Given the description of an element on the screen output the (x, y) to click on. 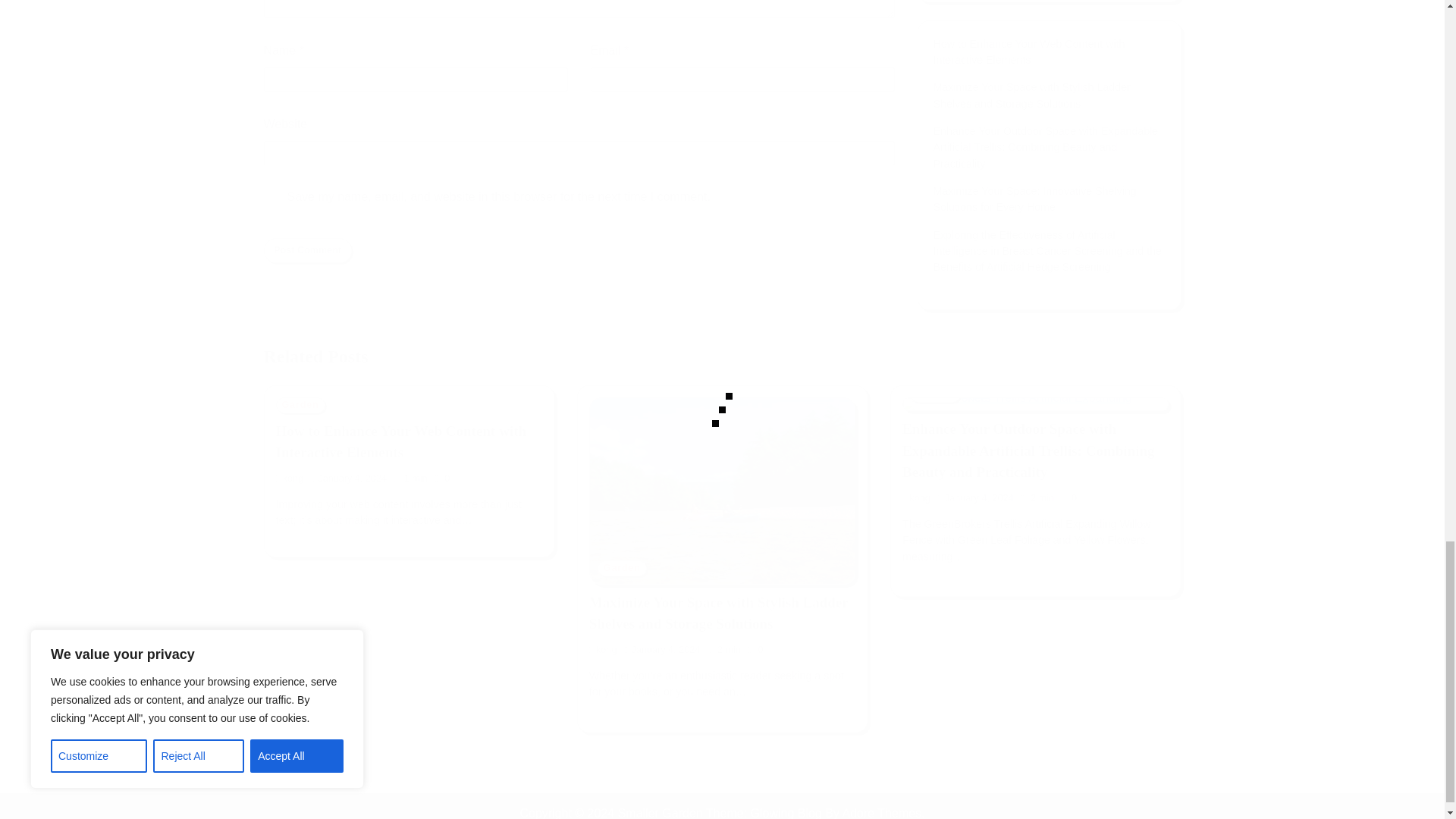
yes (268, 198)
Post Comment (307, 250)
Post Comment (307, 250)
